Given the description of an element on the screen output the (x, y) to click on. 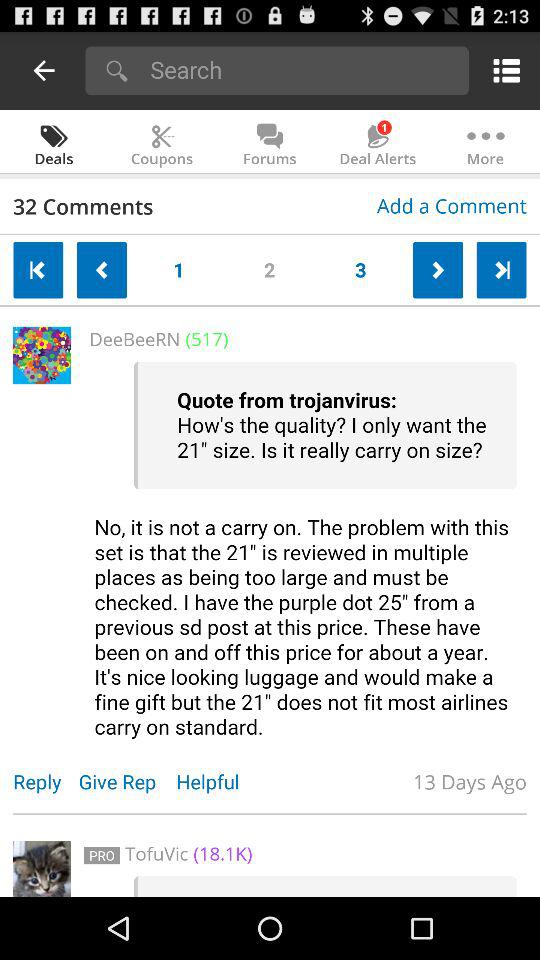
tap helpful button (218, 781)
